Given the description of an element on the screen output the (x, y) to click on. 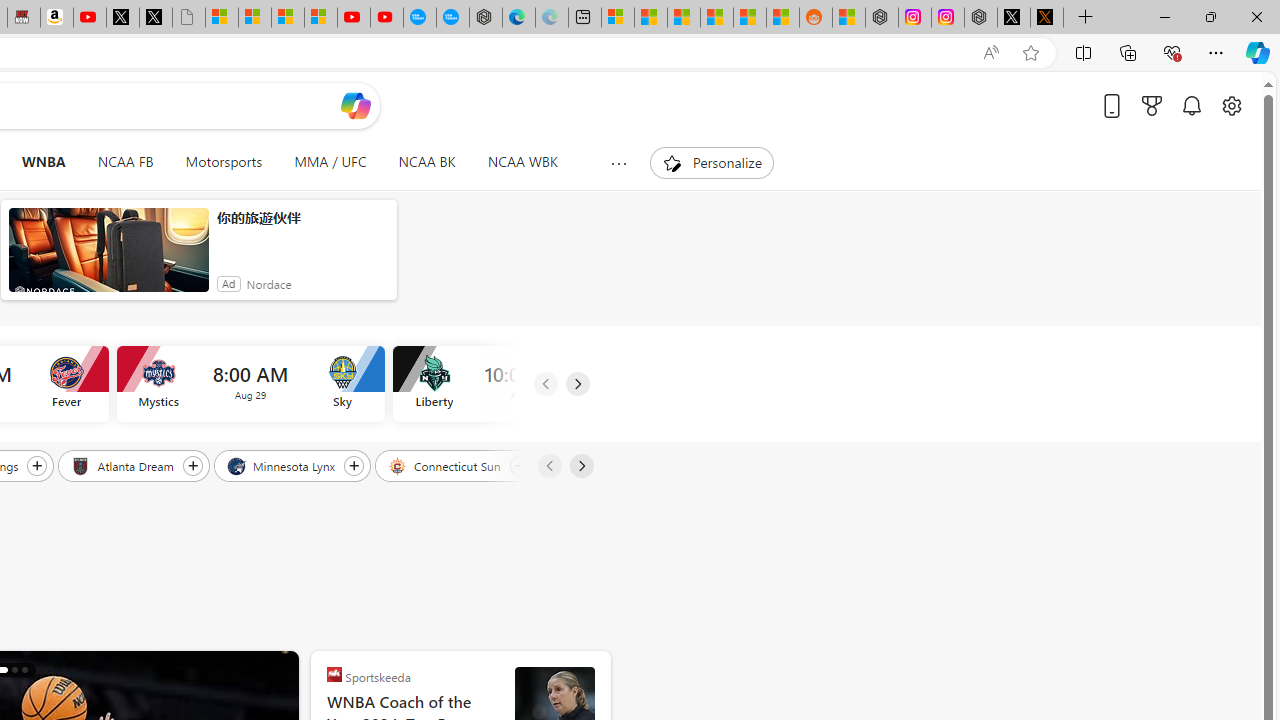
NCAA BK (426, 162)
help.x.com | 524: A timeout occurred (1046, 17)
Untitled (188, 17)
Liberty vs Sparks Time 10:00 AM Date Aug 29 (525, 383)
Gloom - YouTube (353, 17)
Follow Minnesota Lynx (354, 465)
NCAA WBK (522, 162)
Follow Atlanta Dream (192, 465)
